Given the description of an element on the screen output the (x, y) to click on. 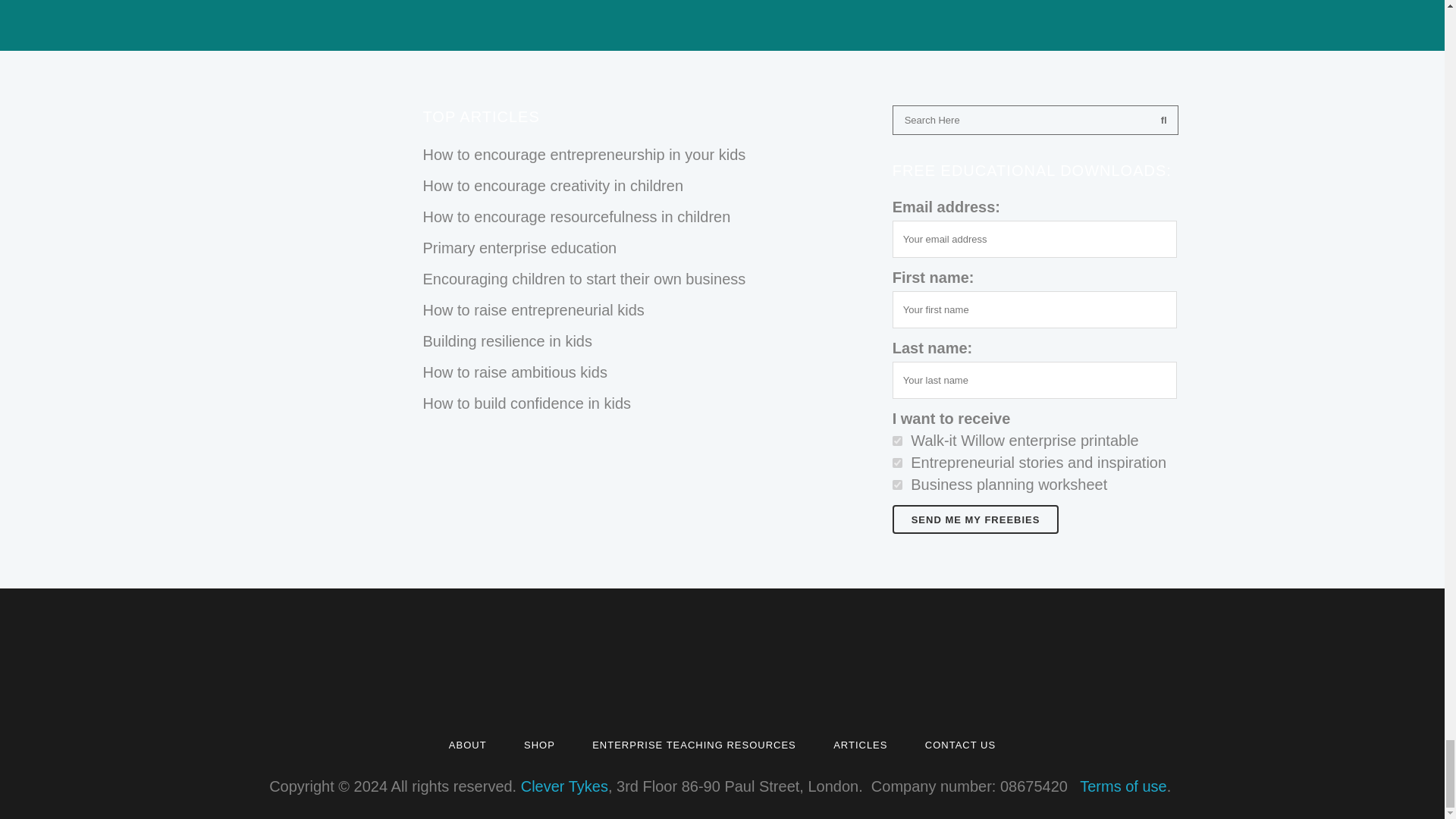
2de4009e1c (897, 462)
0e8c60af40 (897, 440)
6a44f22d89 (897, 484)
Send me my freebies (975, 519)
